Given the description of an element on the screen output the (x, y) to click on. 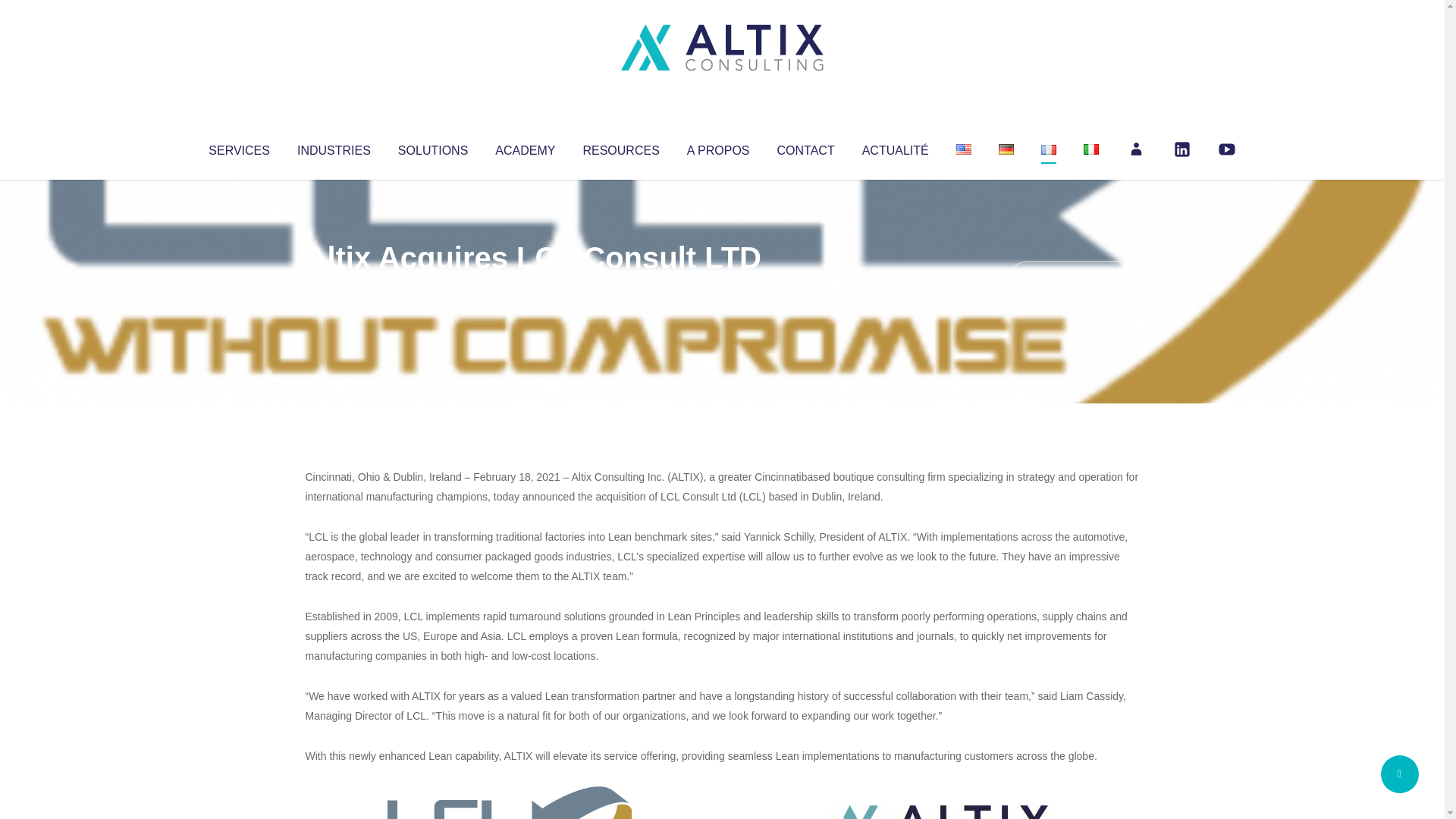
ACADEMY (524, 146)
SOLUTIONS (432, 146)
No Comments (1073, 278)
RESOURCES (620, 146)
SERVICES (238, 146)
INDUSTRIES (334, 146)
Altix (333, 287)
A PROPOS (718, 146)
Uncategorized (530, 287)
Articles par Altix (333, 287)
